Given the description of an element on the screen output the (x, y) to click on. 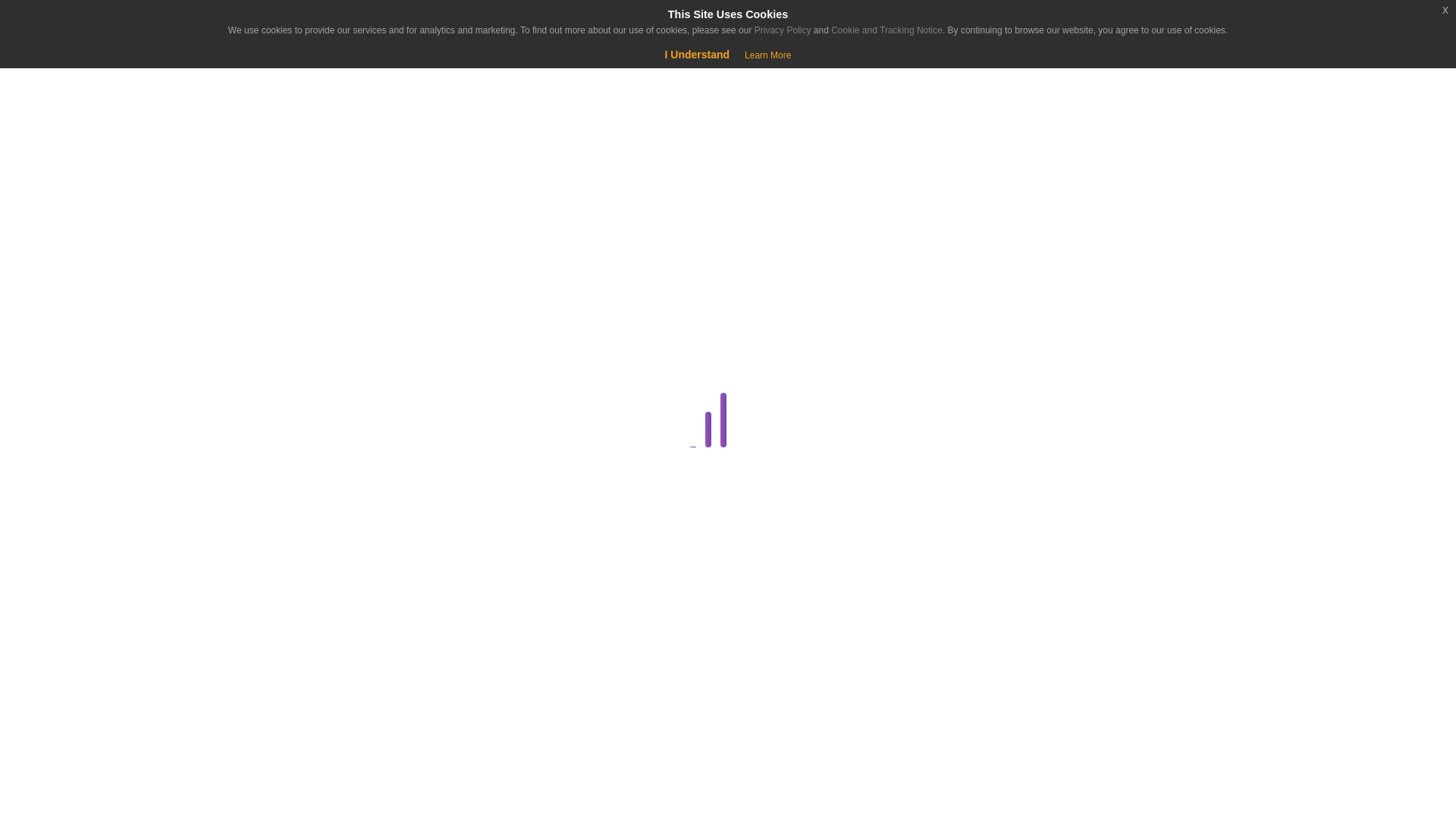
Databases (281, 458)
Hesab (93, 23)
Domains API (283, 567)
Colocation Guides (283, 385)
Domains and DNS (281, 531)
Linux Administration (281, 750)
Shopping Cart (59, 76)
Hosting Dashboard (281, 713)
Dedicated Server Guides (281, 495)
Billing (281, 349)
Affiliates (283, 312)
Home (94, 138)
Email (281, 604)
cPanel (281, 422)
General (281, 677)
